Given the description of an element on the screen output the (x, y) to click on. 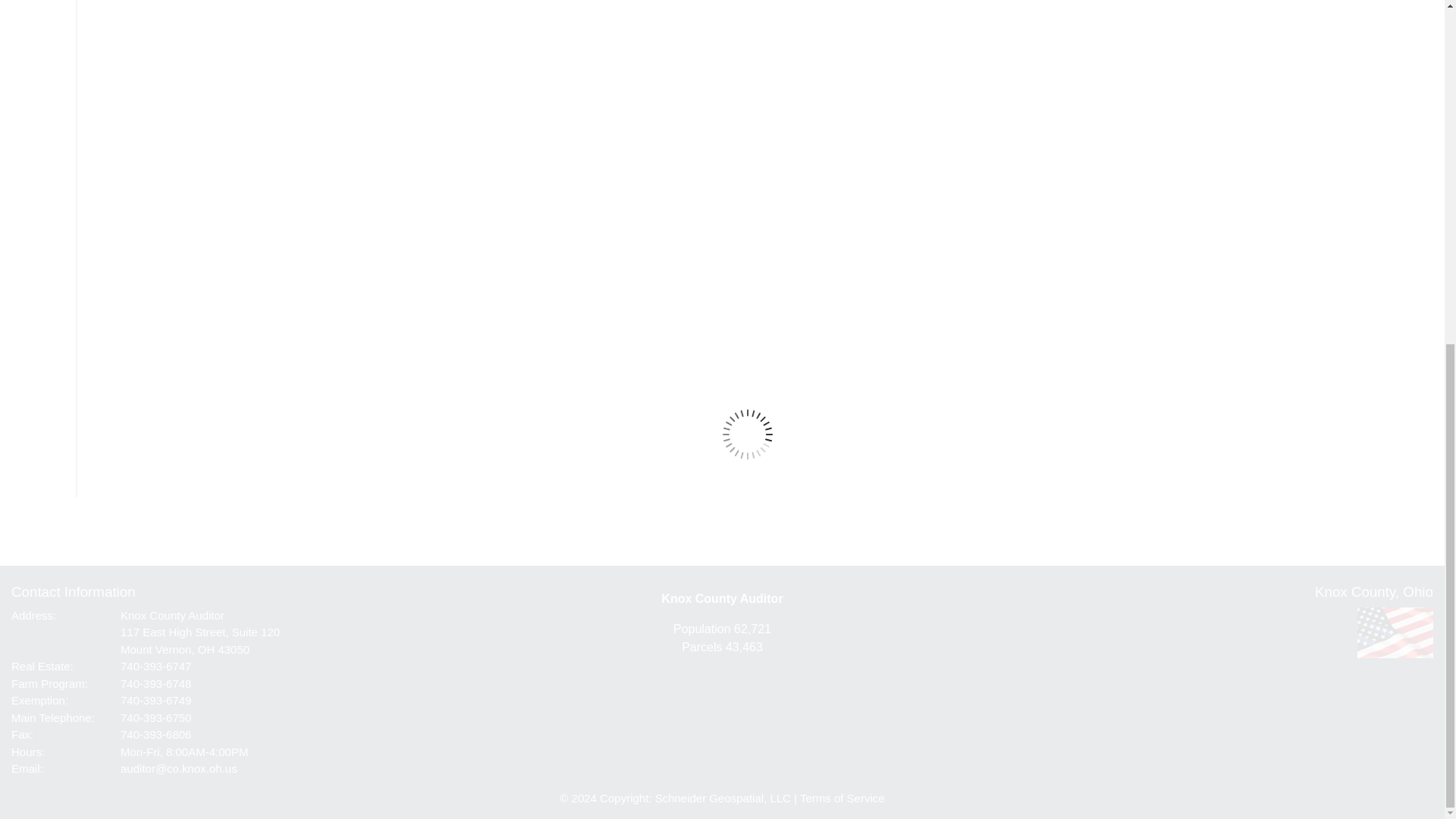
Terms of Service (842, 797)
Schneider Geospatial, LLC (722, 797)
